Given the description of an element on the screen output the (x, y) to click on. 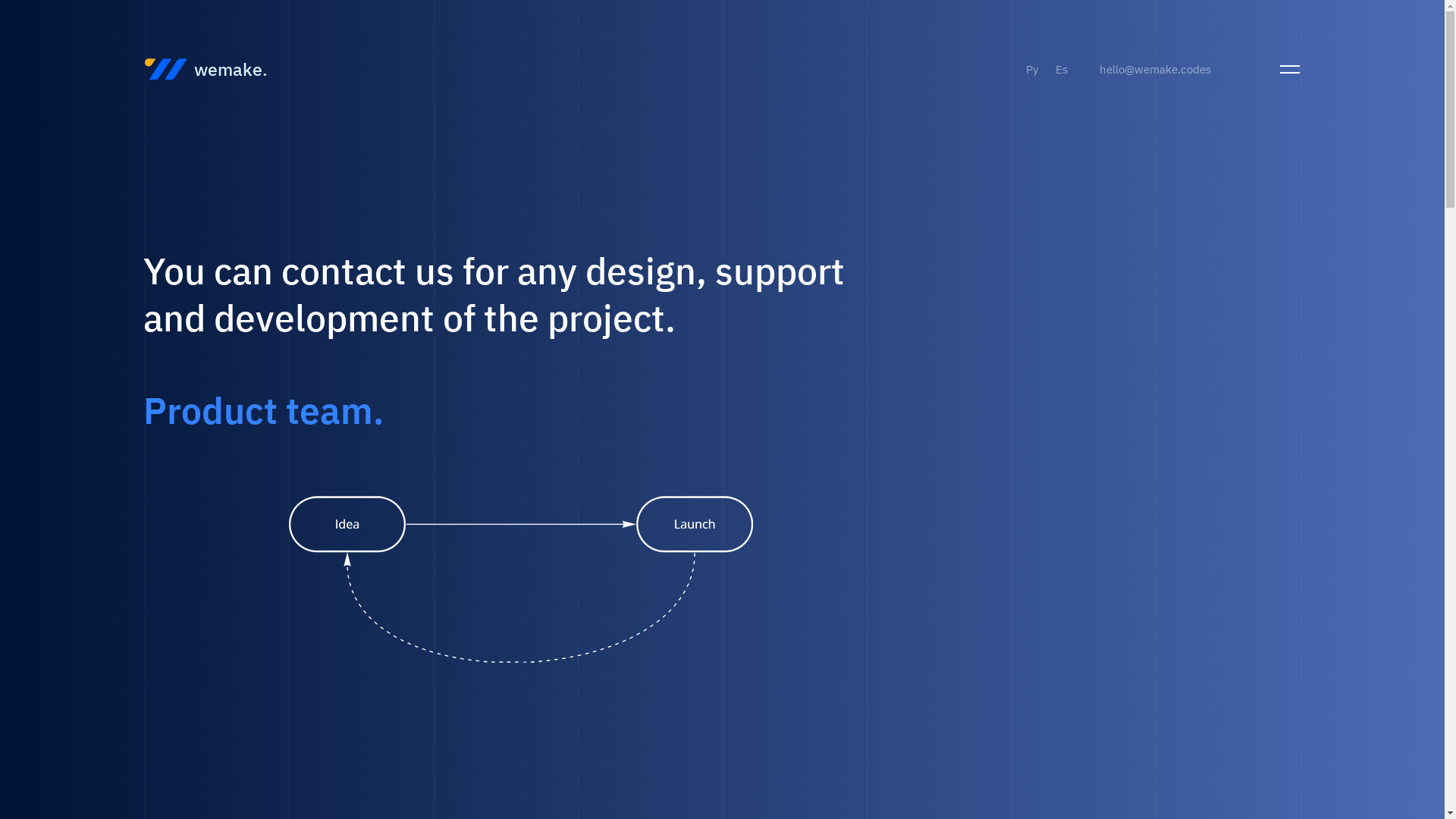
wemake. Element type: text (205, 68)
Product team process Wemake Codes Element type: hover (520, 579)
Menu Element type: hover (1290, 68)
Es Element type: text (1061, 68)
hello@wemake.codes Element type: text (1155, 68)
